Given the description of an element on the screen output the (x, y) to click on. 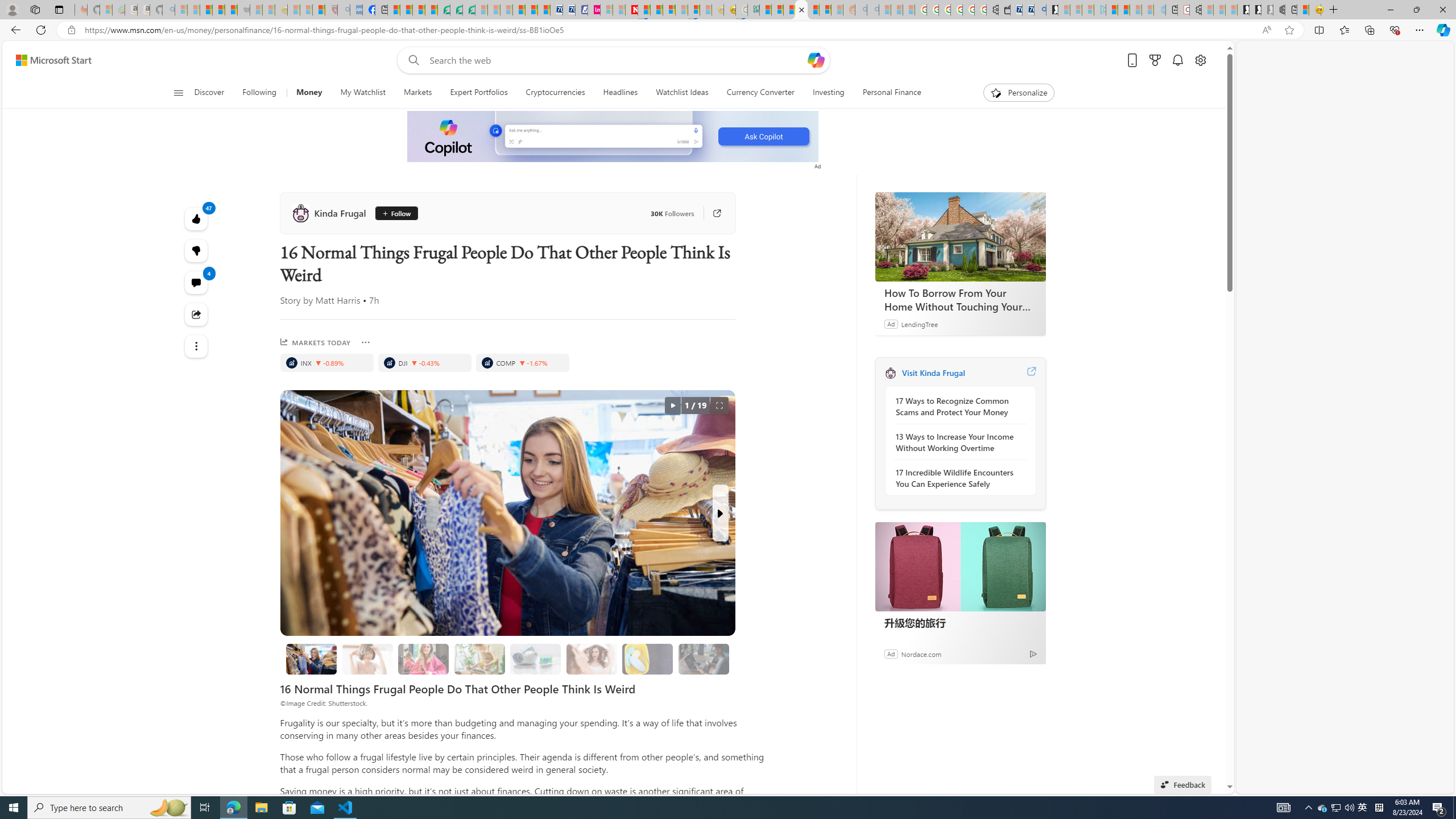
17 Incredible Wildlife Encounters You Can Experience Safely (957, 477)
Currency Converter (760, 92)
4. Cutting the Bottom off the Toothpaste Tube (535, 658)
LendingTree - Compare Lenders (443, 9)
8. Thrift Shopping (311, 659)
The Weather Channel - MSN (205, 9)
View comments 4 Comment (196, 282)
Full screen (719, 405)
Expert Portfolios (478, 92)
